Given the description of an element on the screen output the (x, y) to click on. 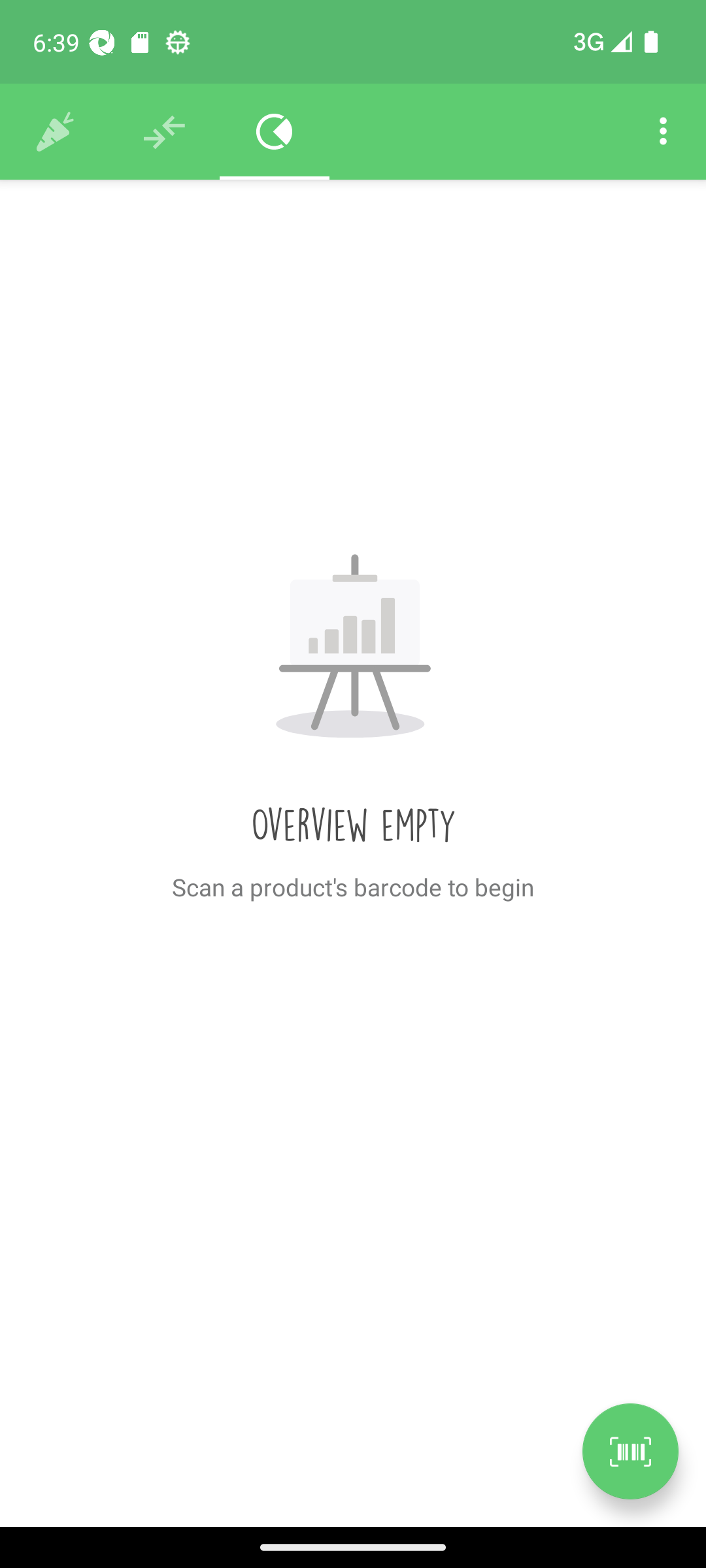
History (55, 131)
Recommendations (164, 131)
Settings (663, 131)
Scan a product (630, 1451)
